Given the description of an element on the screen output the (x, y) to click on. 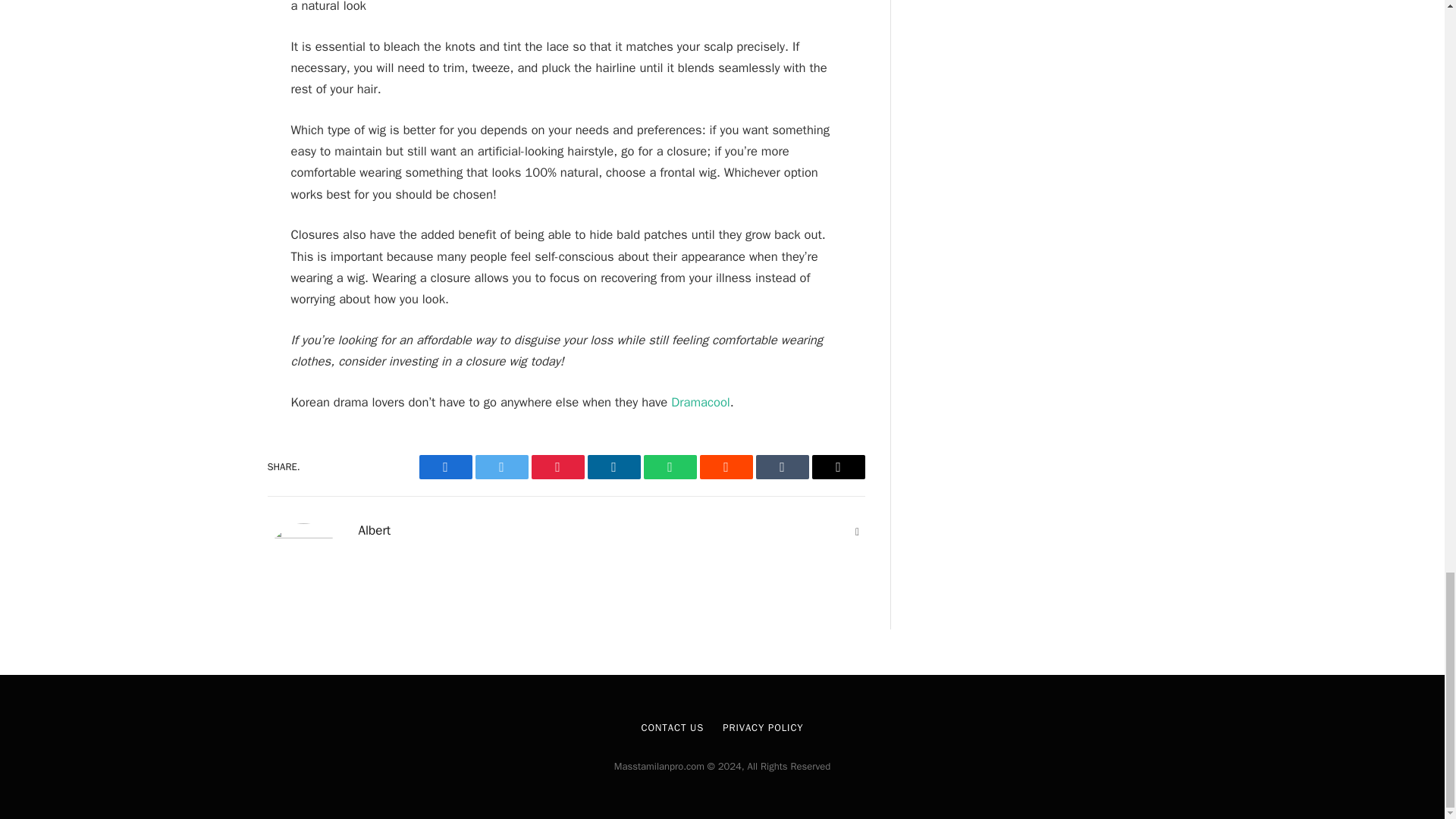
Dramacool (700, 401)
Twitter (500, 467)
Pinterest (557, 467)
Share on Facebook (445, 467)
LinkedIn (613, 467)
Tumblr (781, 467)
Reddit (725, 467)
WhatsApp (669, 467)
Facebook (445, 467)
Email (837, 467)
